Given the description of an element on the screen output the (x, y) to click on. 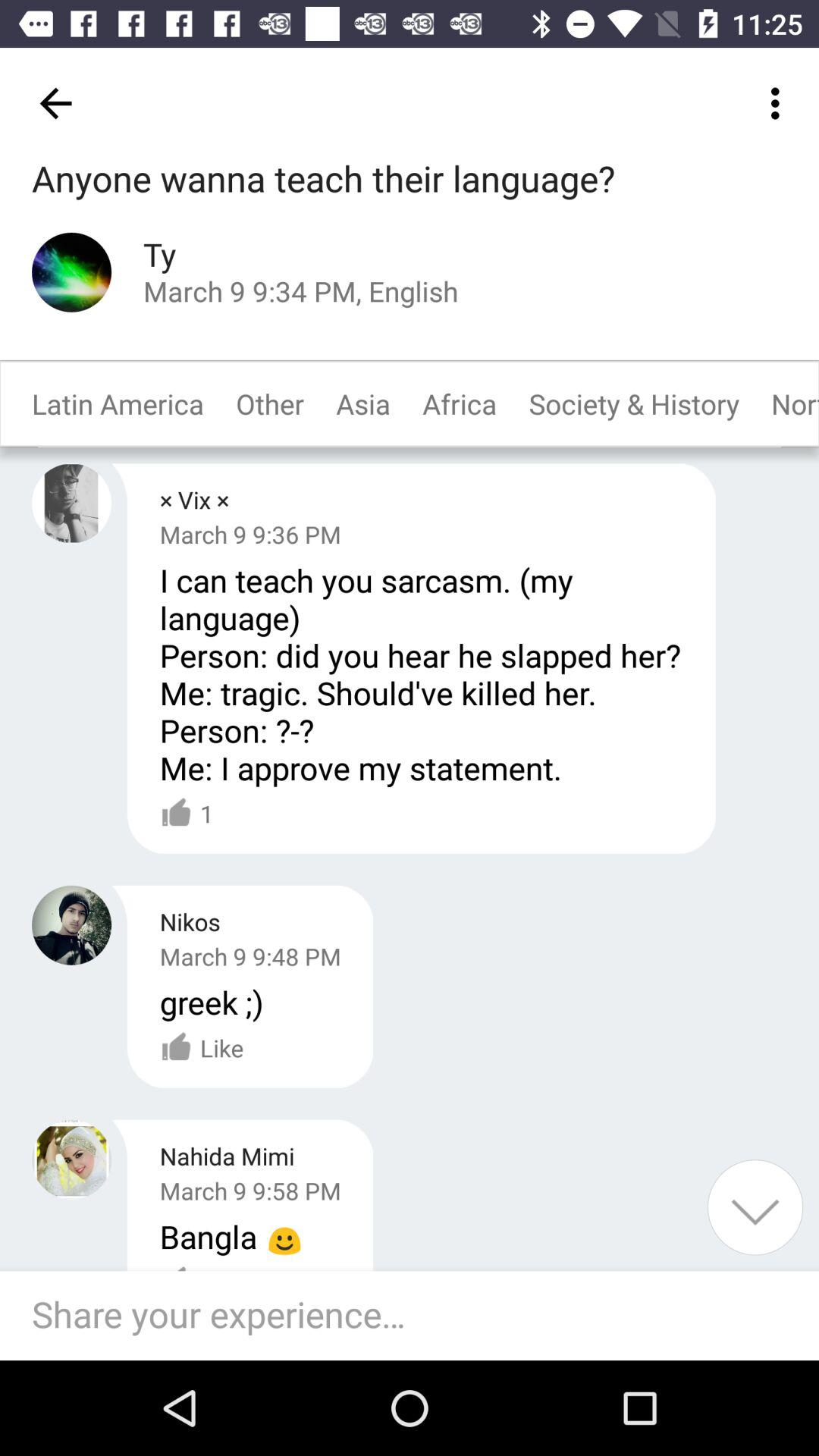
my profile (71, 503)
